Given the description of an element on the screen output the (x, y) to click on. 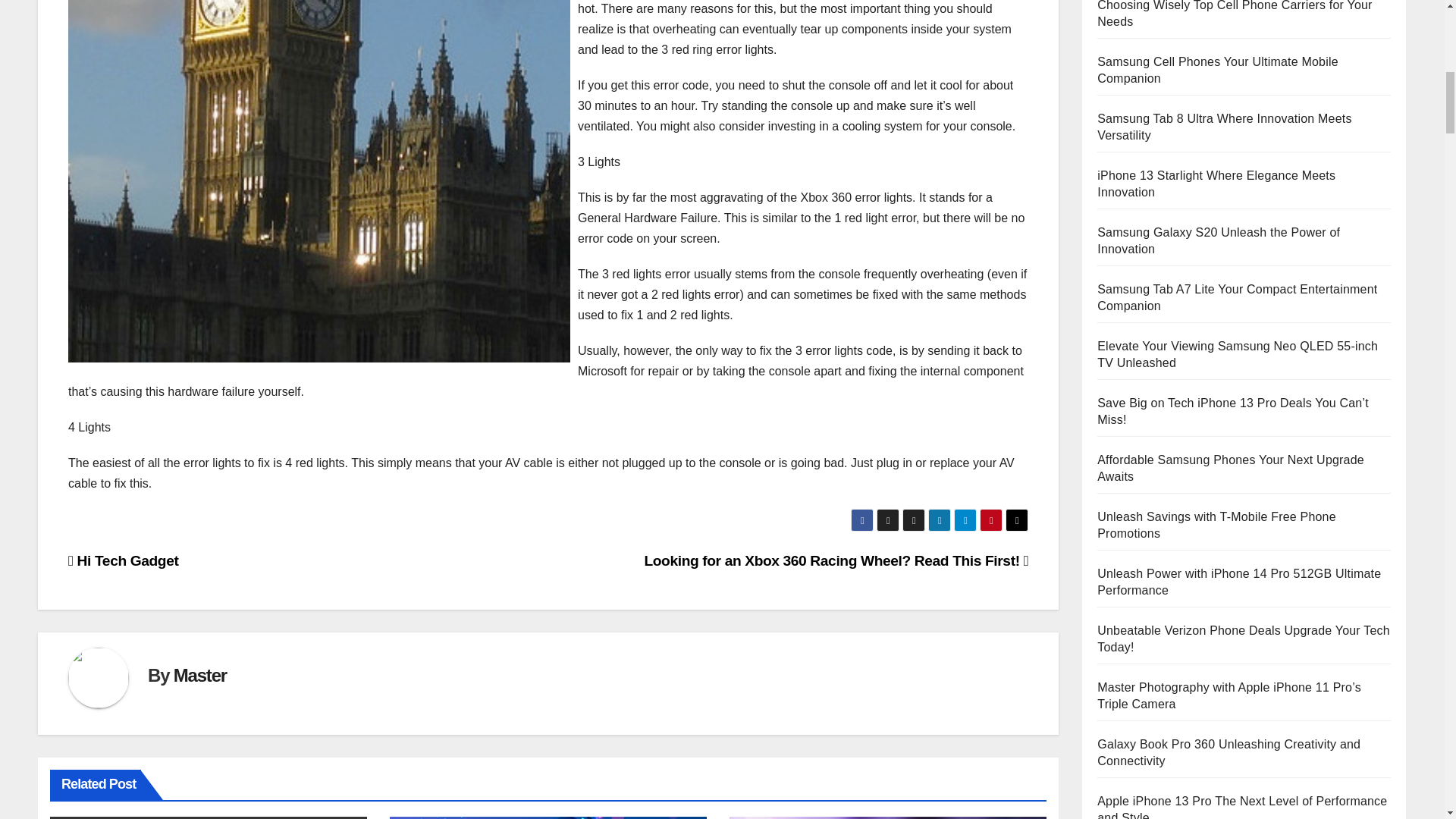
Master (200, 675)
Looking for an Xbox 360 Racing Wheel? Read This First! (835, 560)
Hi Tech Gadget (123, 560)
